Given the description of an element on the screen output the (x, y) to click on. 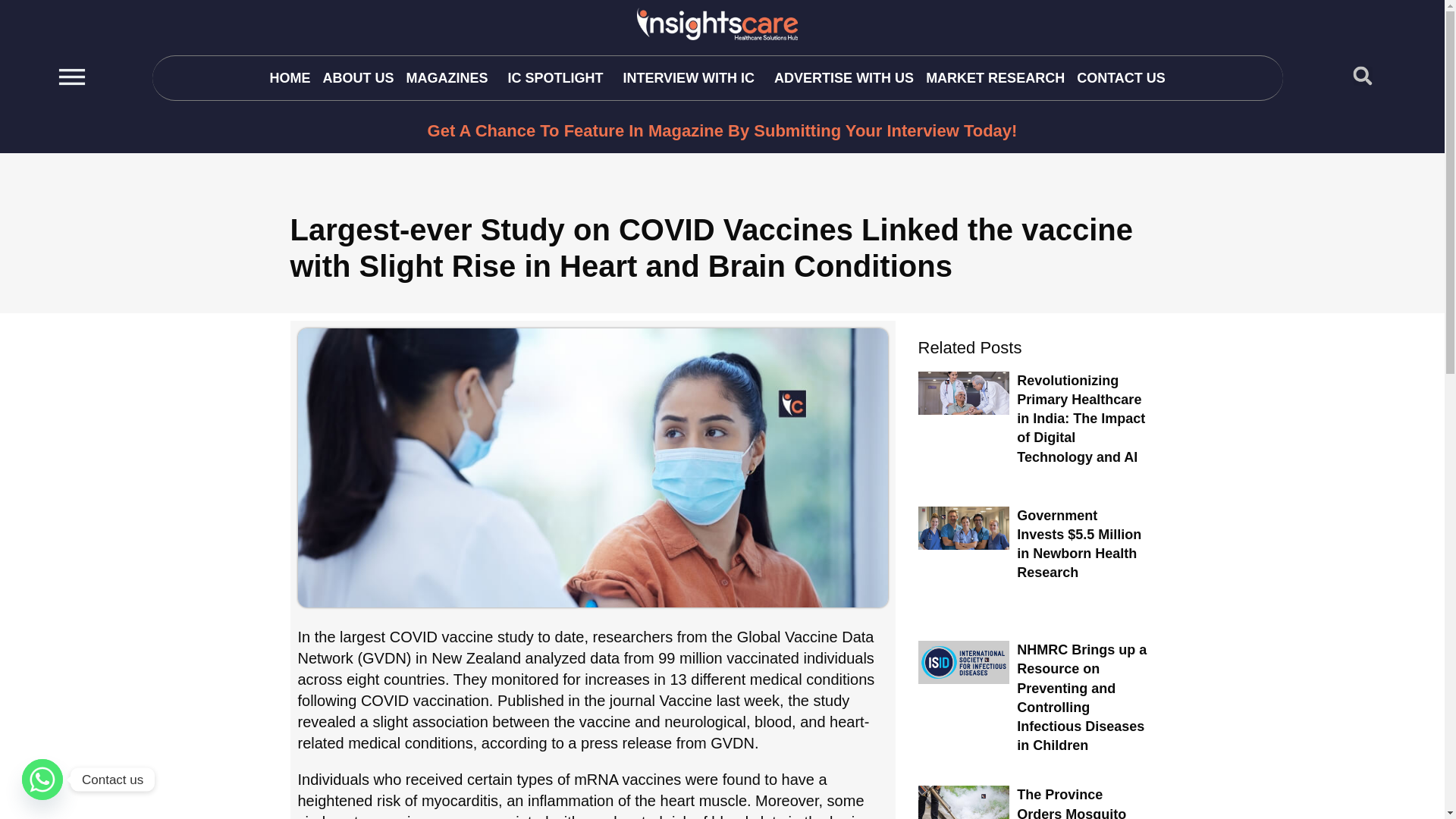
HOME (289, 77)
ABOUT US (356, 77)
MAGAZINES (449, 77)
